Given the description of an element on the screen output the (x, y) to click on. 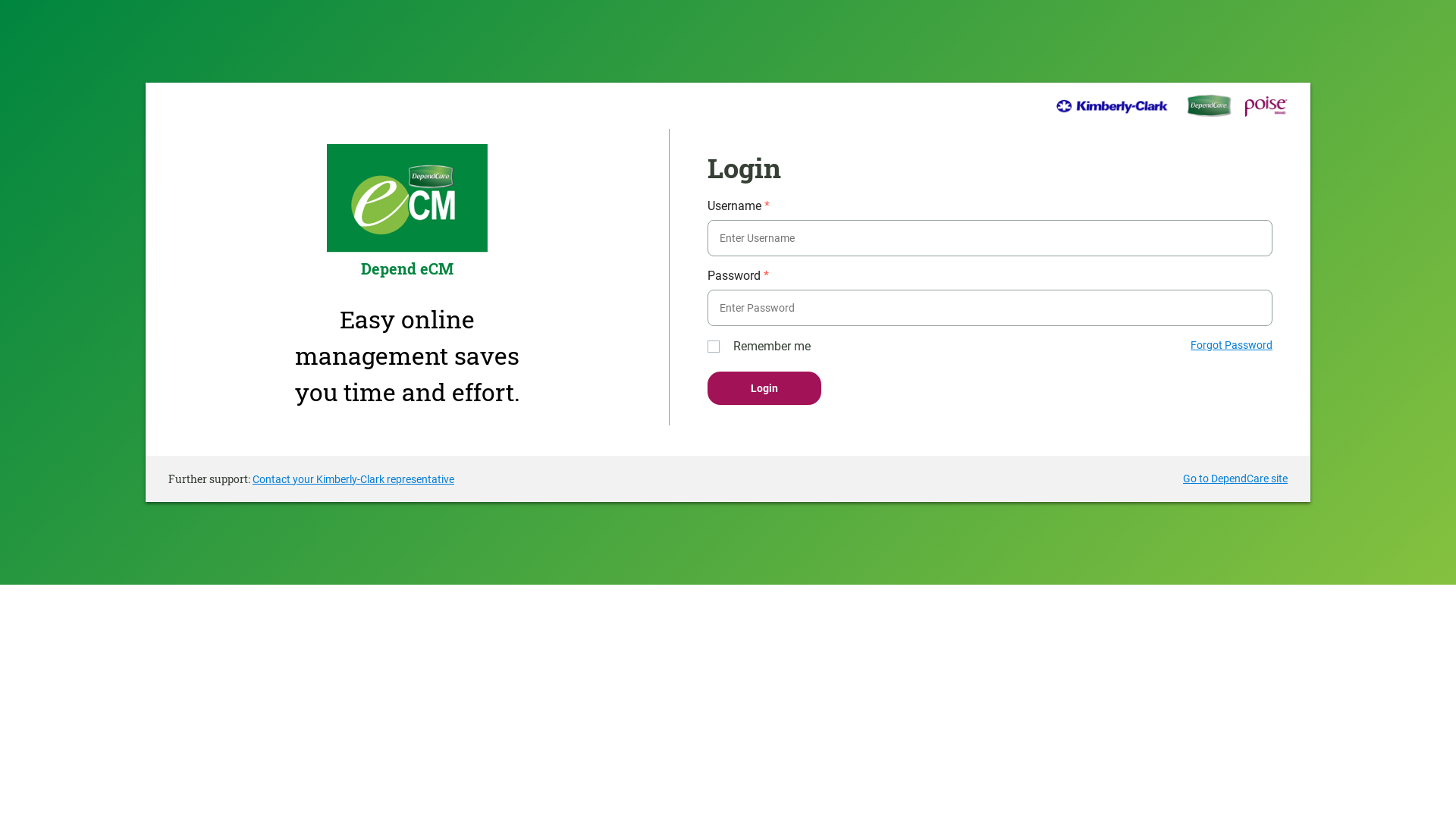
Forgot Password Element type: text (1231, 344)
Login Element type: text (764, 387)
Contact your Kimberly-Clark representative Element type: text (353, 479)
depend Element type: hover (1171, 104)
Go to DependCare site Element type: text (1235, 478)
